Given the description of an element on the screen output the (x, y) to click on. 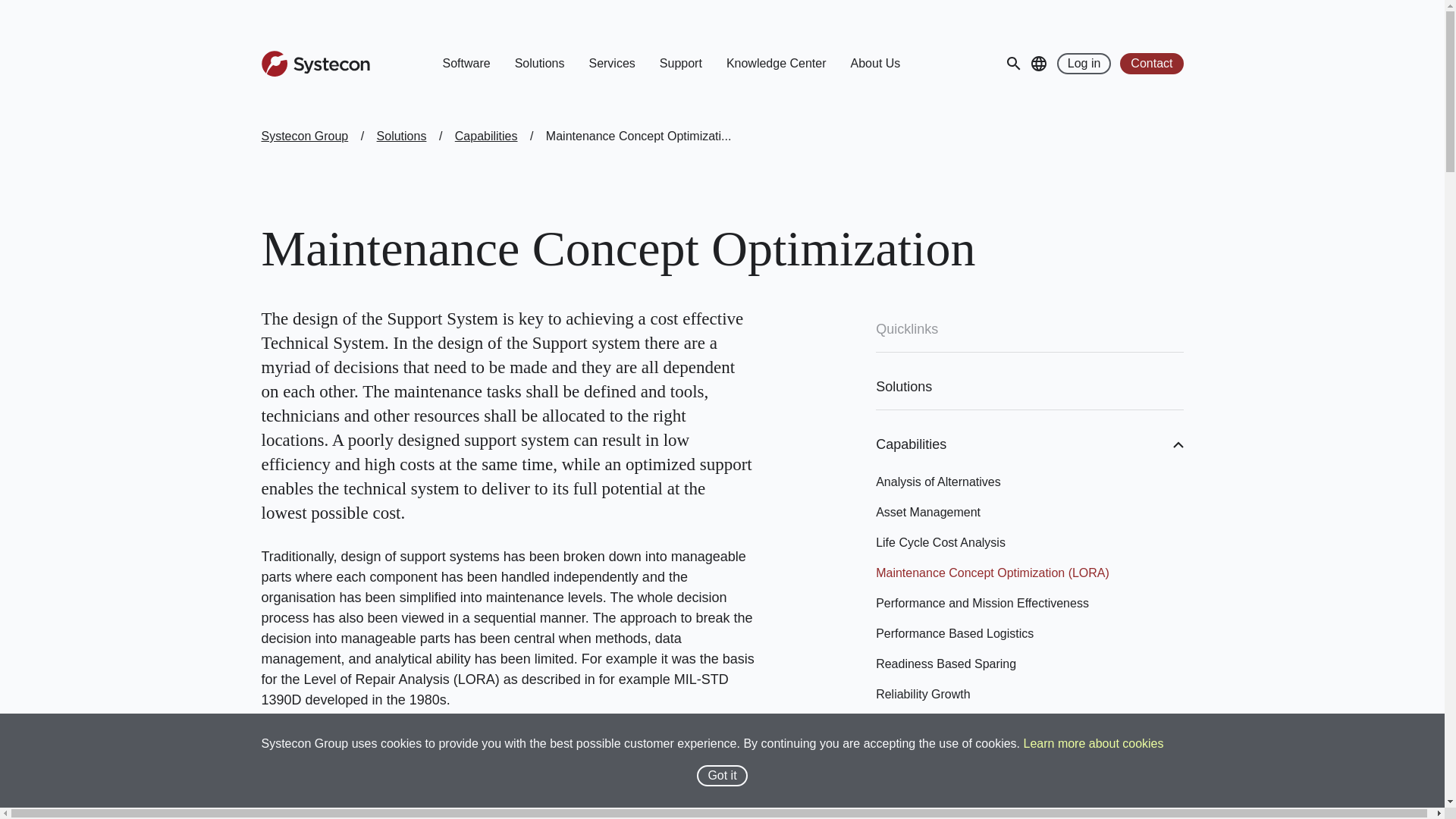
Home (314, 63)
